Given the description of an element on the screen output the (x, y) to click on. 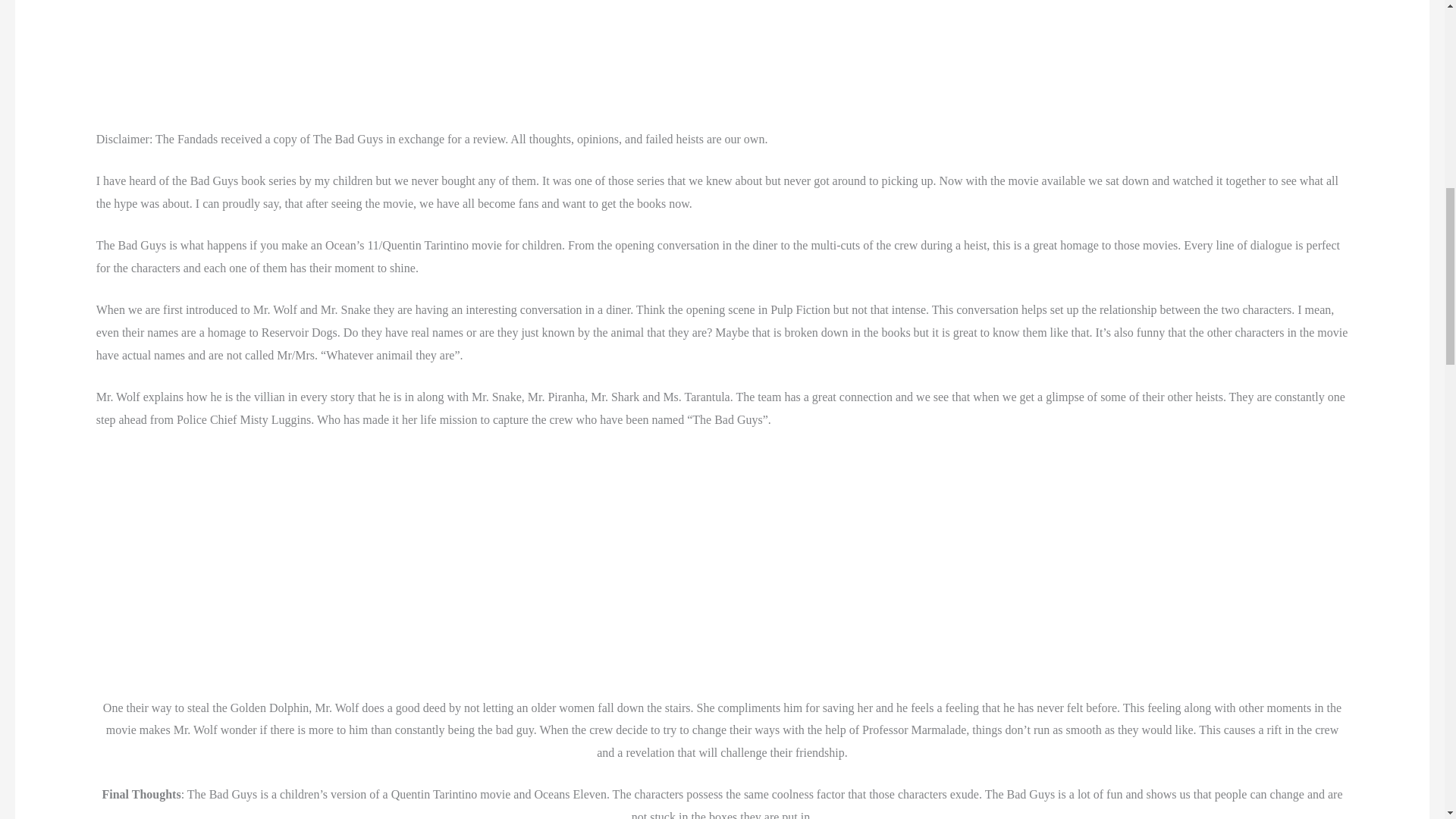
YouTube video player (721, 569)
